Given the description of an element on the screen output the (x, y) to click on. 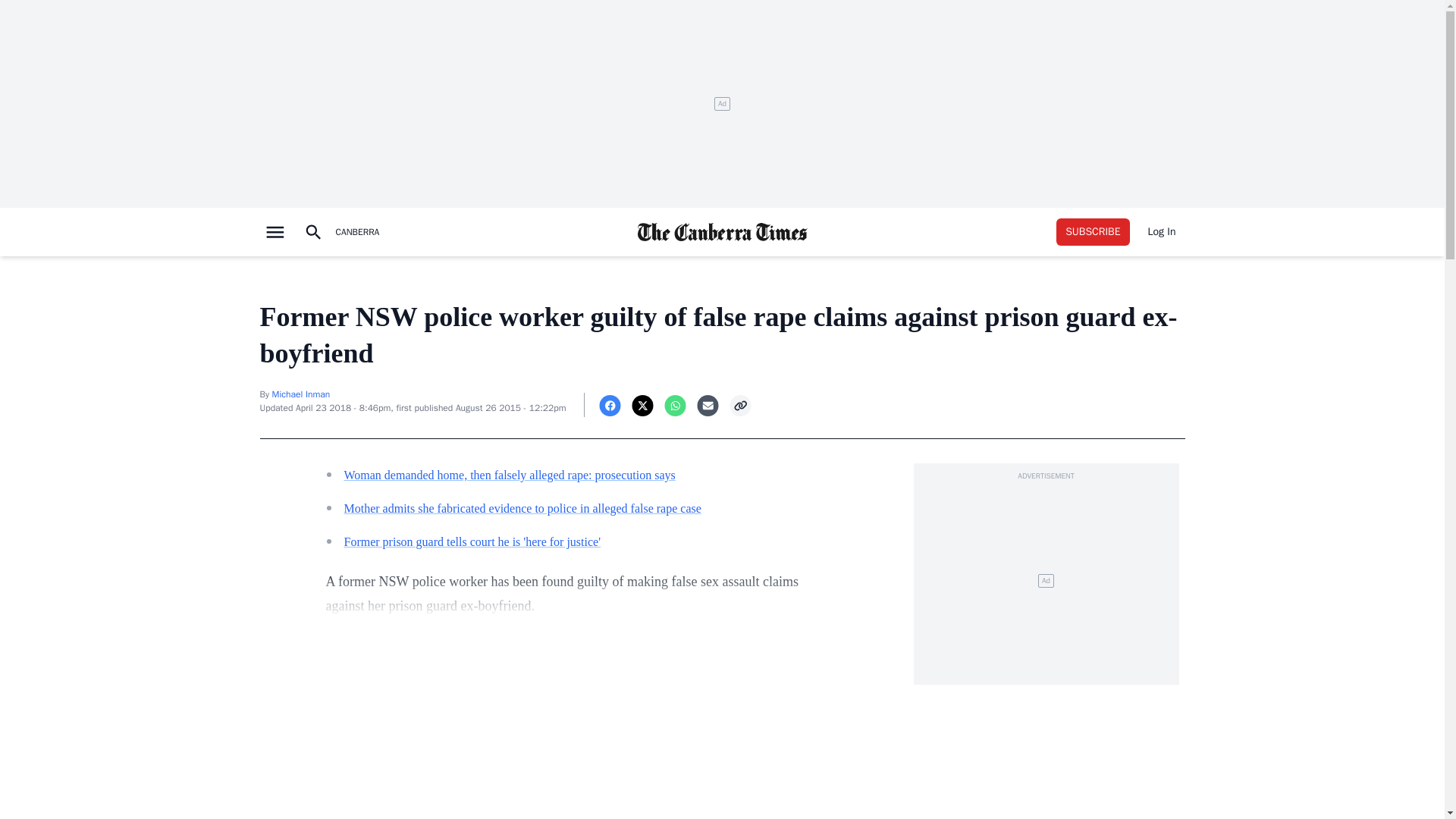
Log In (1161, 231)
SUBSCRIBE (1093, 231)
CANBERRA (357, 232)
